Given the description of an element on the screen output the (x, y) to click on. 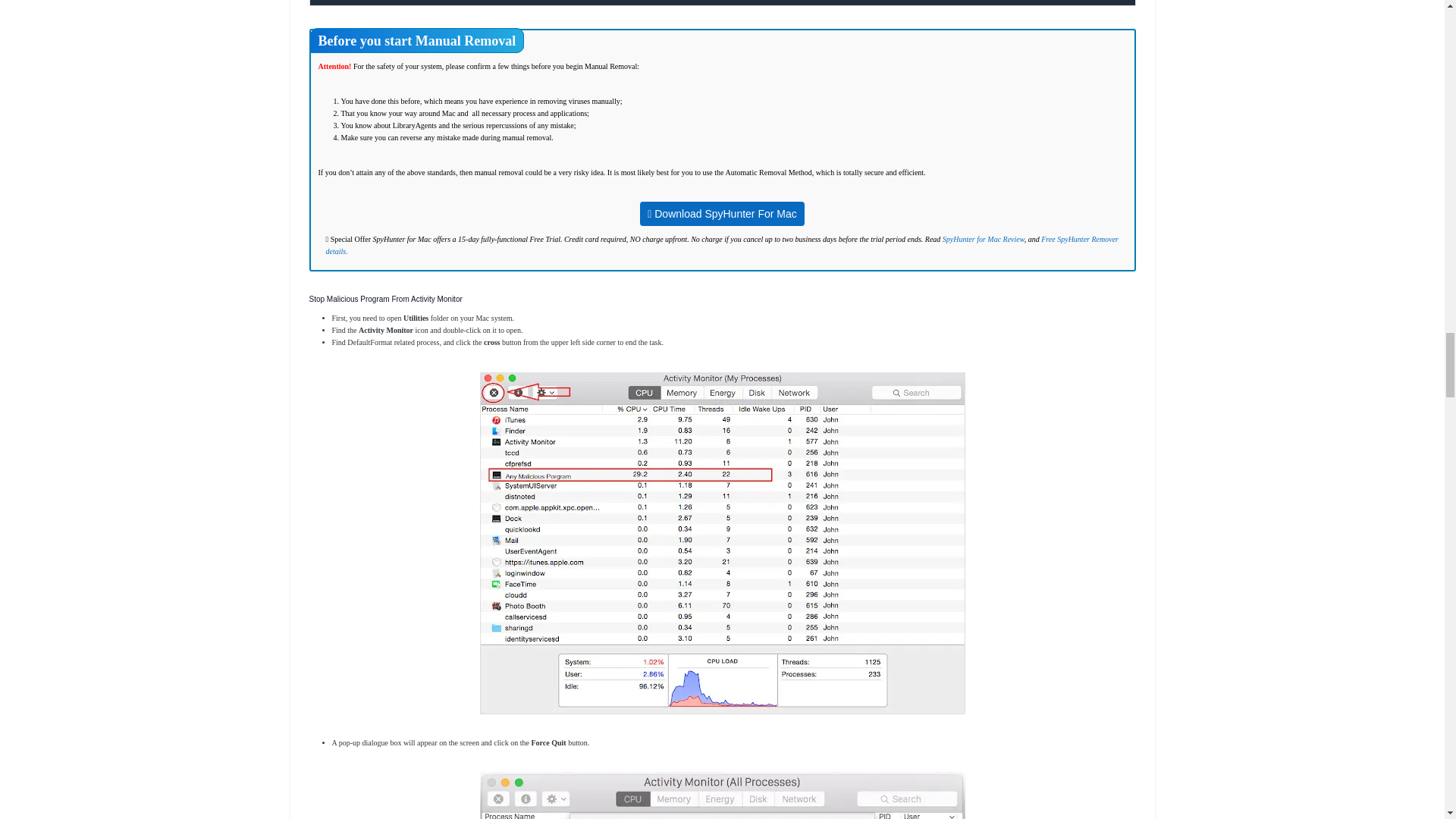
SpyHunter for Mac Review (983, 239)
Download SpyHunter For Mac (722, 214)
Download SpyHunter For Mac (722, 213)
